Given the description of an element on the screen output the (x, y) to click on. 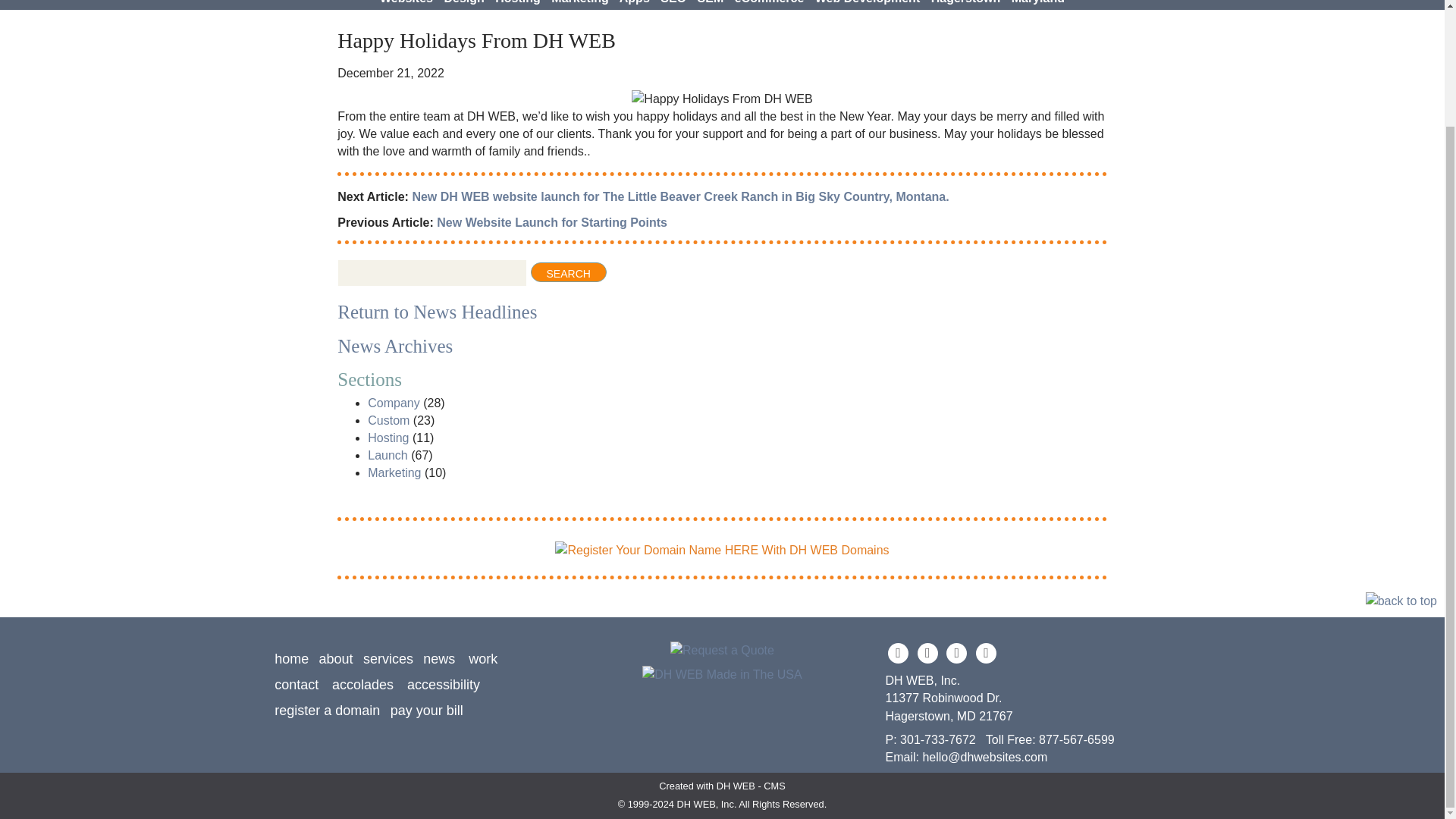
Hosting (388, 437)
accessibility (443, 684)
Marketing (394, 472)
Instagram Link (956, 652)
register a domain (327, 710)
about (335, 658)
news (438, 658)
work (482, 658)
services (387, 658)
Return to News Headlines (437, 312)
